Given the description of an element on the screen output the (x, y) to click on. 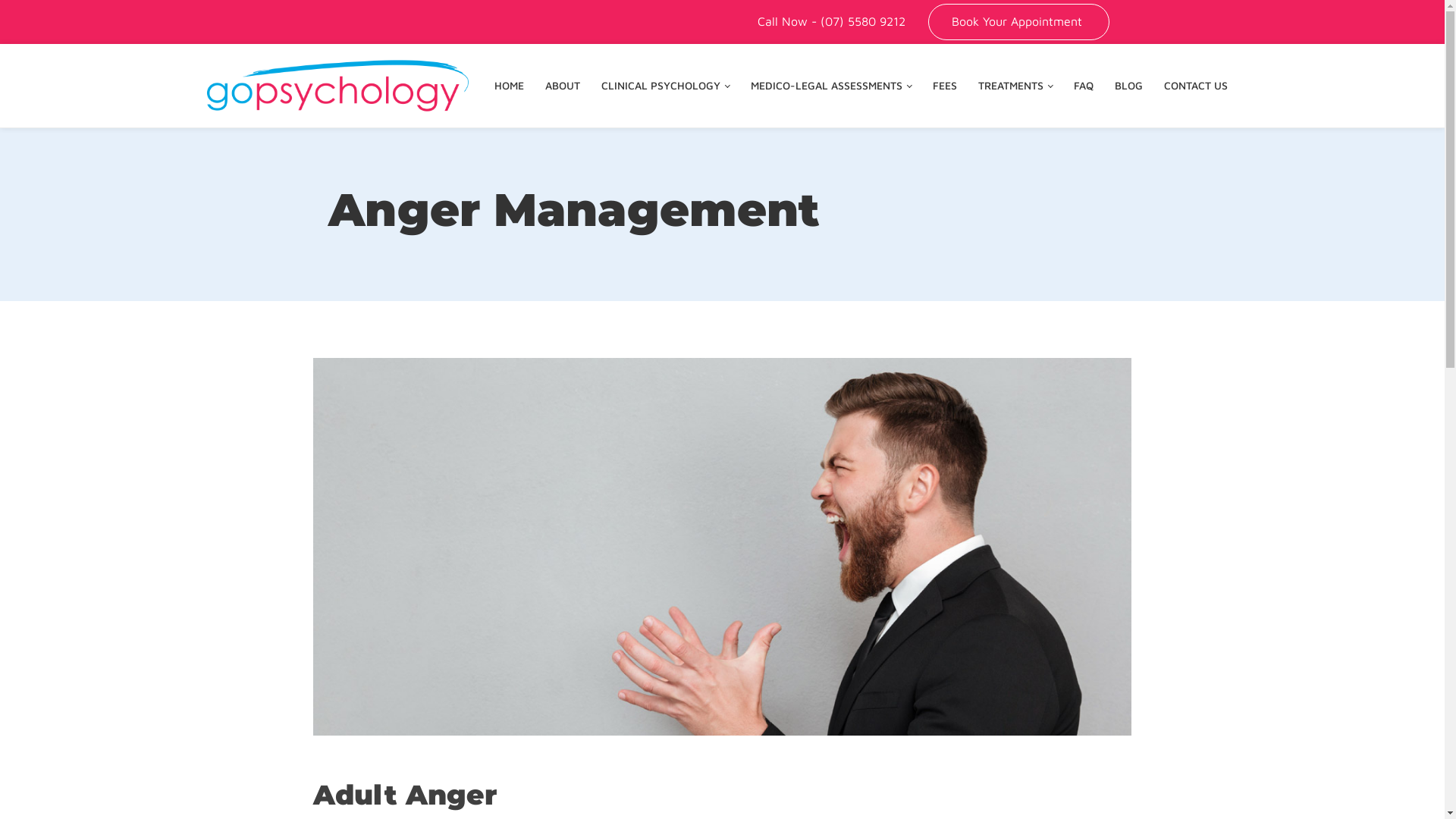
BLOG Element type: text (1128, 85)
TREATMENTS Element type: text (1015, 85)
CLINICAL PSYCHOLOGY Element type: text (665, 85)
HOME Element type: text (508, 85)
MEDICO-LEGAL ASSESSMENTS Element type: text (831, 85)
ABOUT Element type: text (562, 85)
Book Your Appointment  Element type: text (1018, 21)
FAQ Element type: text (1083, 85)
CONTACT US Element type: text (1194, 85)
FEES Element type: text (944, 85)
